Given the description of an element on the screen output the (x, y) to click on. 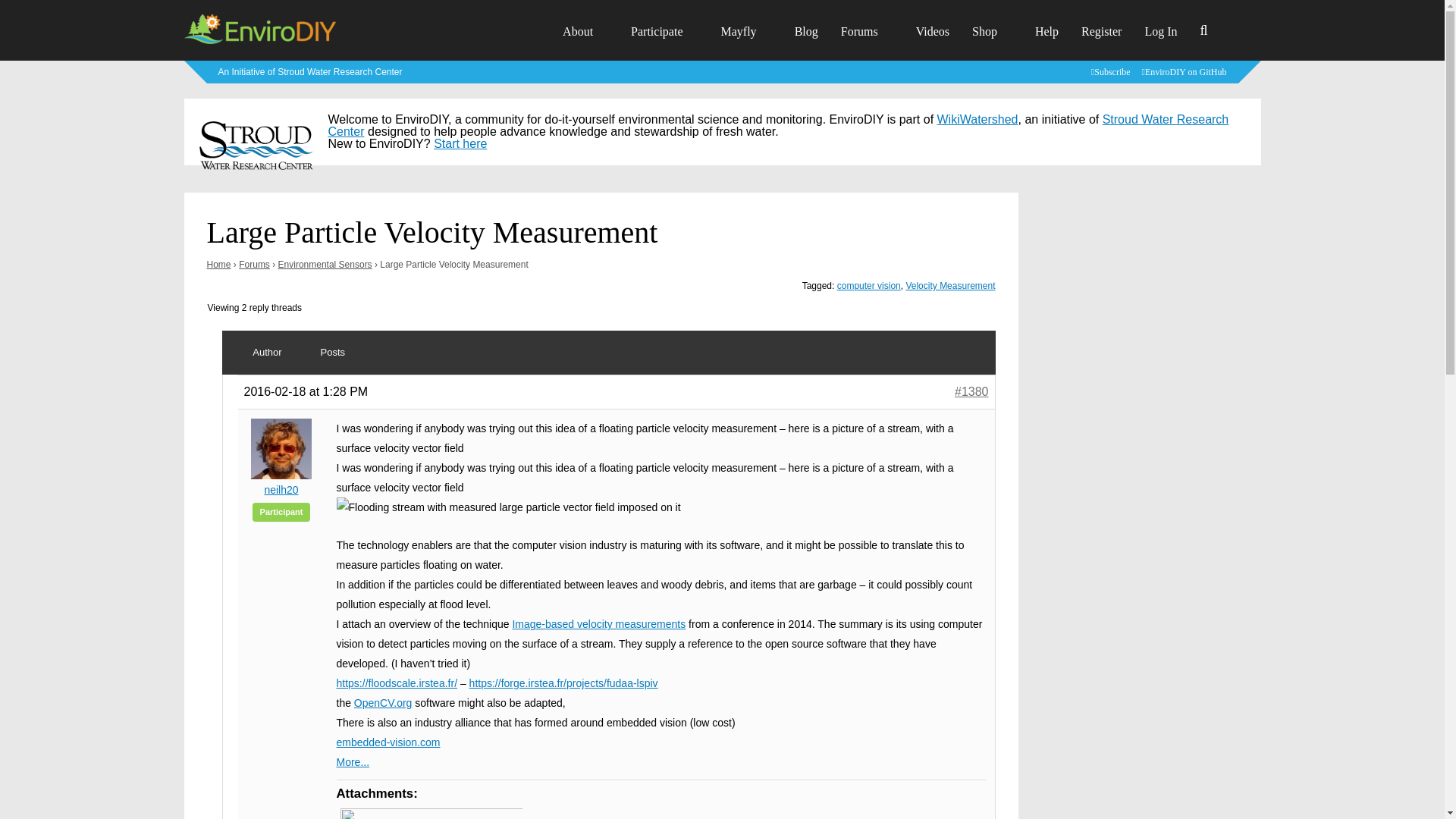
Learn more (310, 71)
SurfaceVelocityVectorField.jpg (430, 813)
EnviroDIY (258, 42)
EnviroDIY on GitHub (1185, 71)
